Given the description of an element on the screen output the (x, y) to click on. 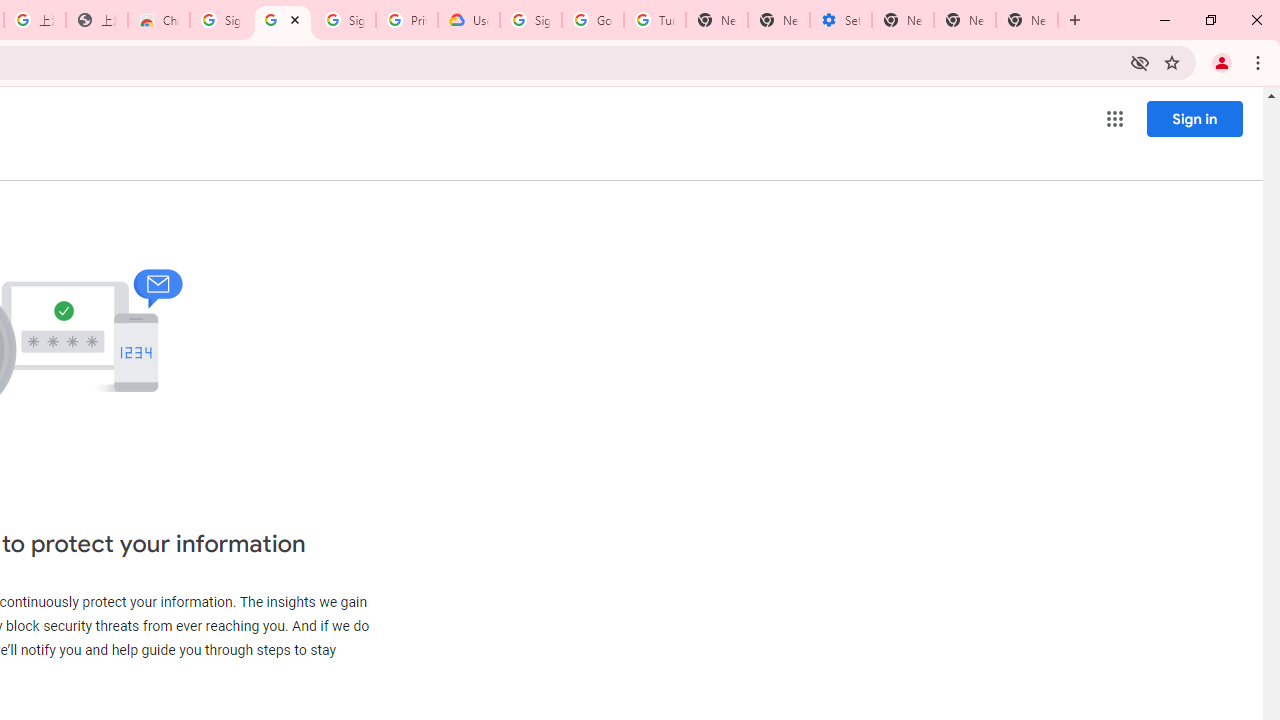
Chrome Web Store - Color themes by Chrome (158, 20)
New Tab (716, 20)
Sign in - Google Accounts (530, 20)
Sign in - Google Accounts (344, 20)
Sign in - Google Accounts (220, 20)
Google Account Help (592, 20)
Turn cookies on or off - Computer - Google Account Help (654, 20)
